Given the description of an element on the screen output the (x, y) to click on. 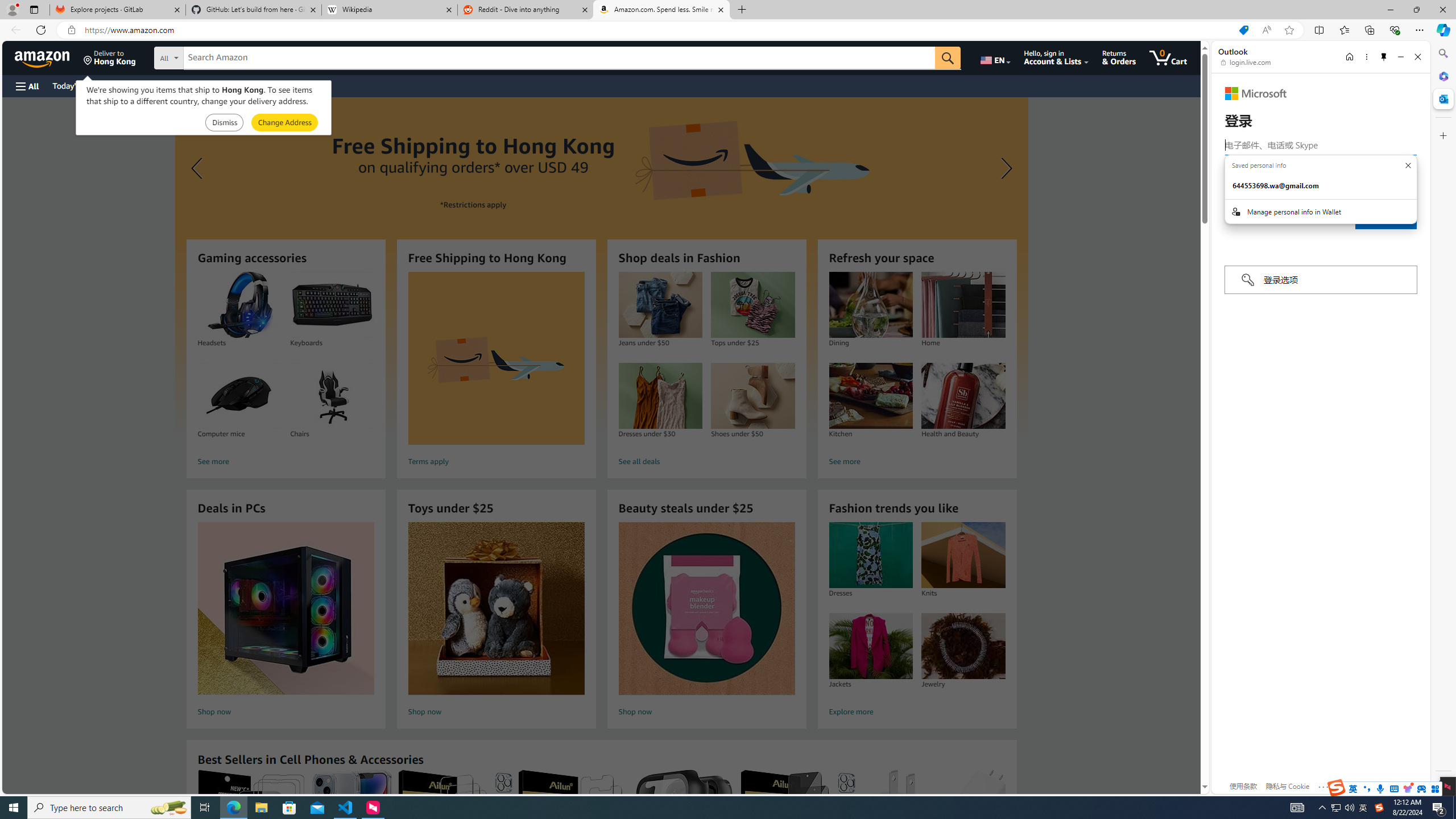
Beauty steals under $25 Shop now (706, 620)
Computer mice (239, 395)
Tops under $25 (752, 304)
Amazon (43, 57)
Sell (290, 85)
Submit (284, 122)
Jewelry (963, 645)
Today's Deals (76, 85)
Hello, sign in Account & Lists (1056, 57)
Search in (210, 58)
Chairs (331, 395)
